Given the description of an element on the screen output the (x, y) to click on. 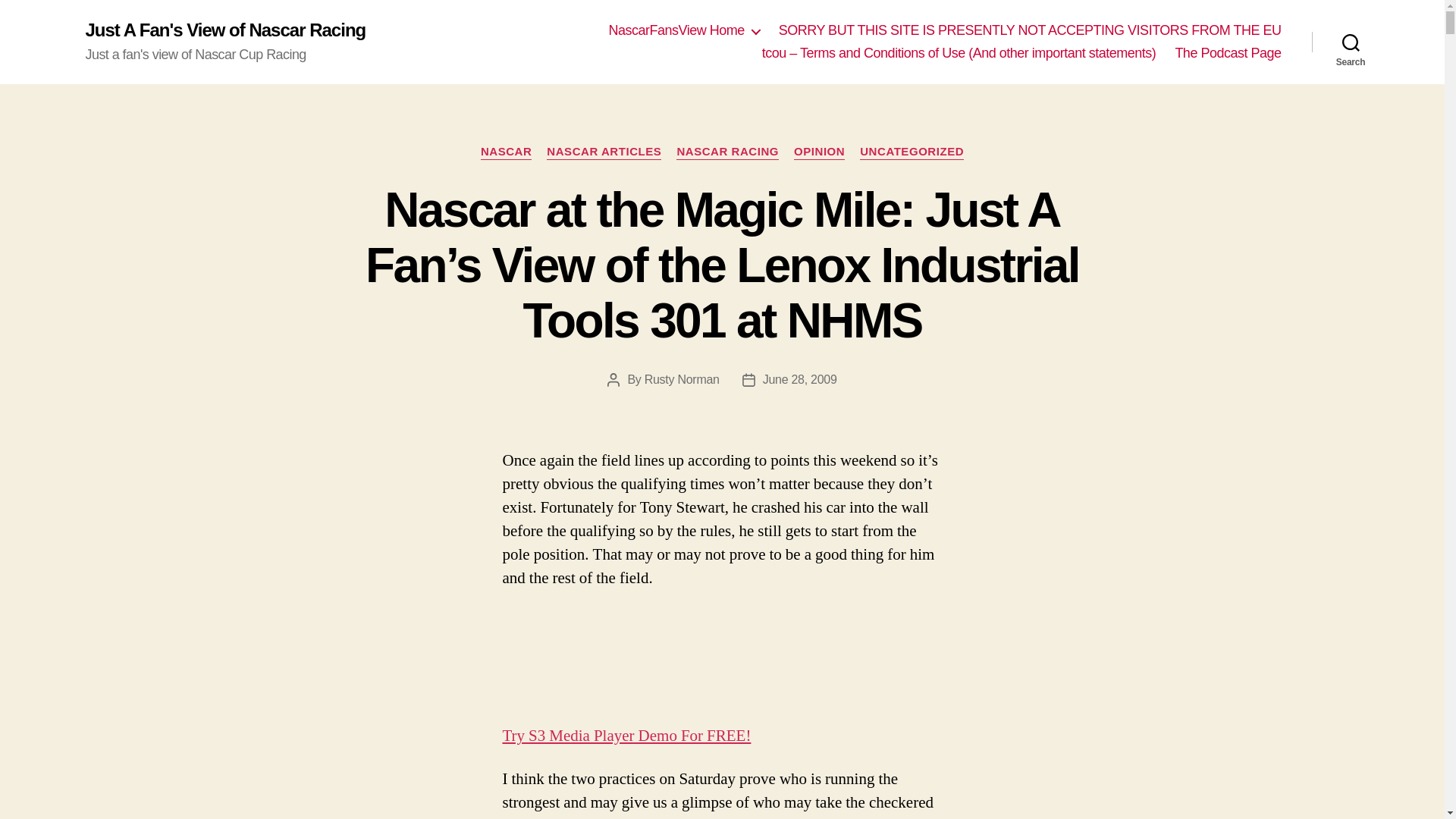
UNCATEGORIZED (911, 151)
Search (1350, 41)
The Podcast Page (1227, 53)
Rusty Norman (682, 379)
June 28, 2009 (799, 379)
Try S3 Media Player Demo For FREE! (626, 735)
OPINION (818, 151)
NascarFansView Home (683, 30)
NASCAR ARTICLES (604, 151)
